Given the description of an element on the screen output the (x, y) to click on. 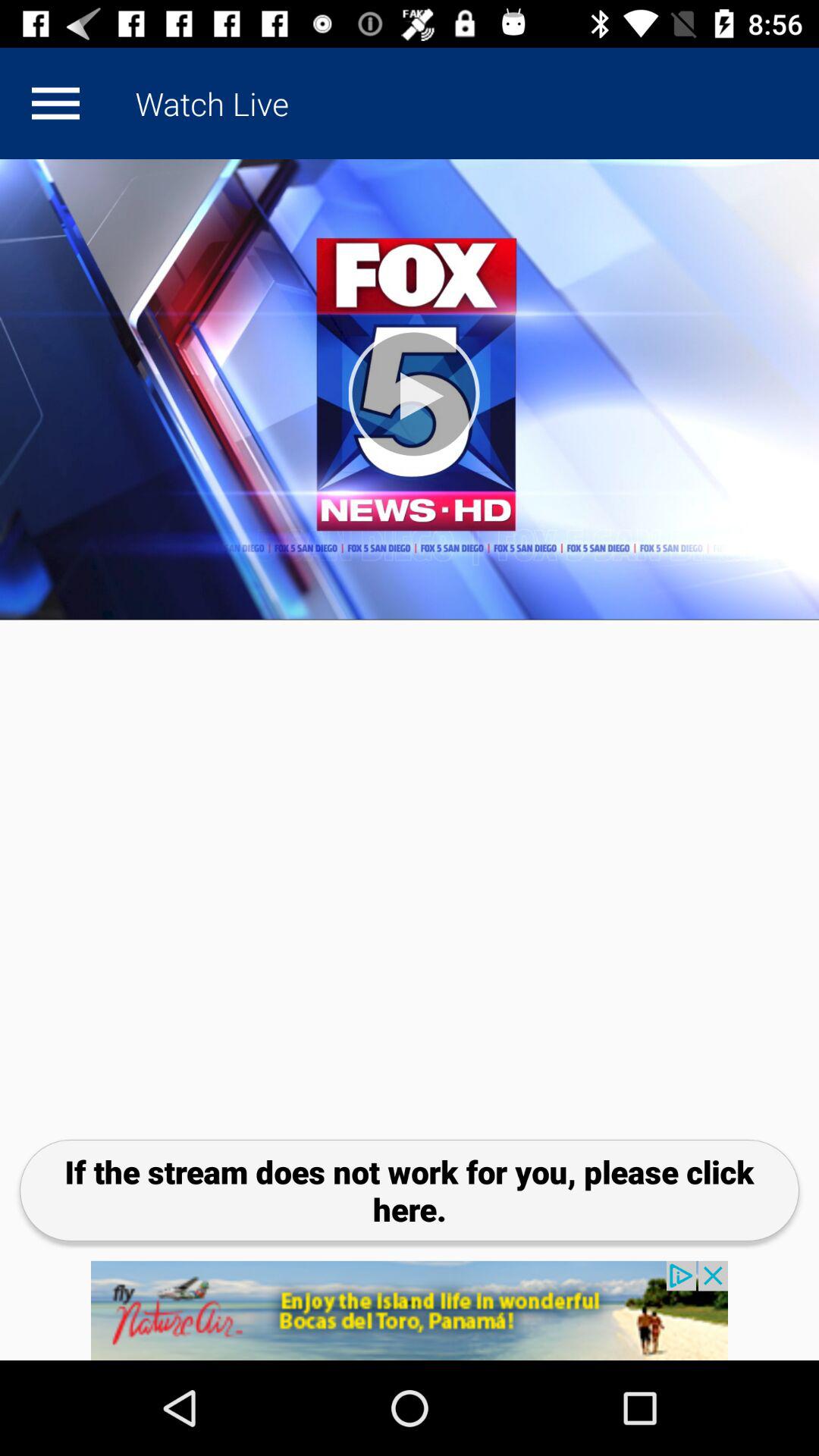
go to main meanu (55, 103)
